Given the description of an element on the screen output the (x, y) to click on. 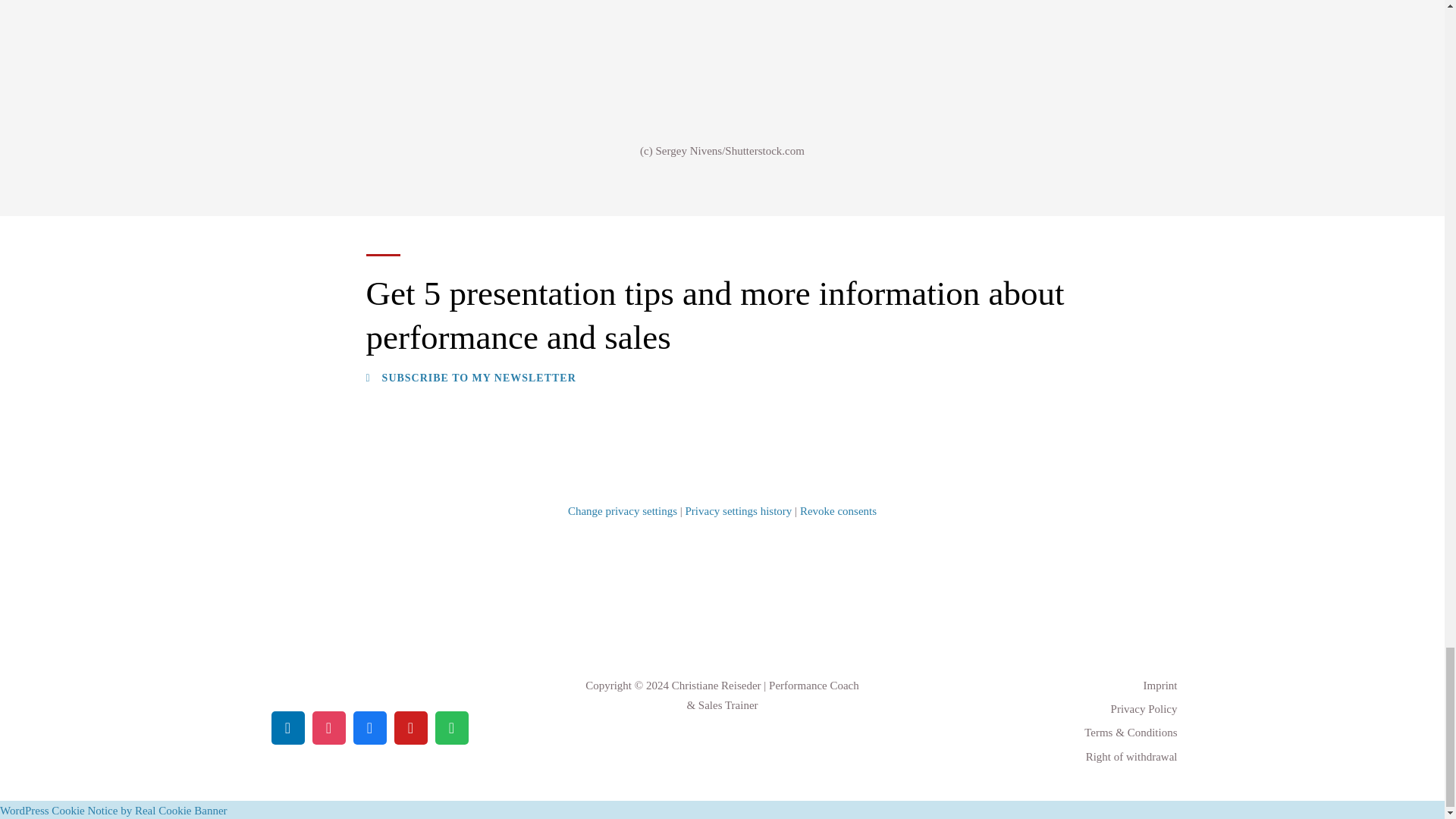
Revoke consents (837, 510)
SUBSCRIBE TO MY NEWSLETTER (470, 378)
Change privacy settings (622, 510)
Privacy settings history (738, 510)
